Given the description of an element on the screen output the (x, y) to click on. 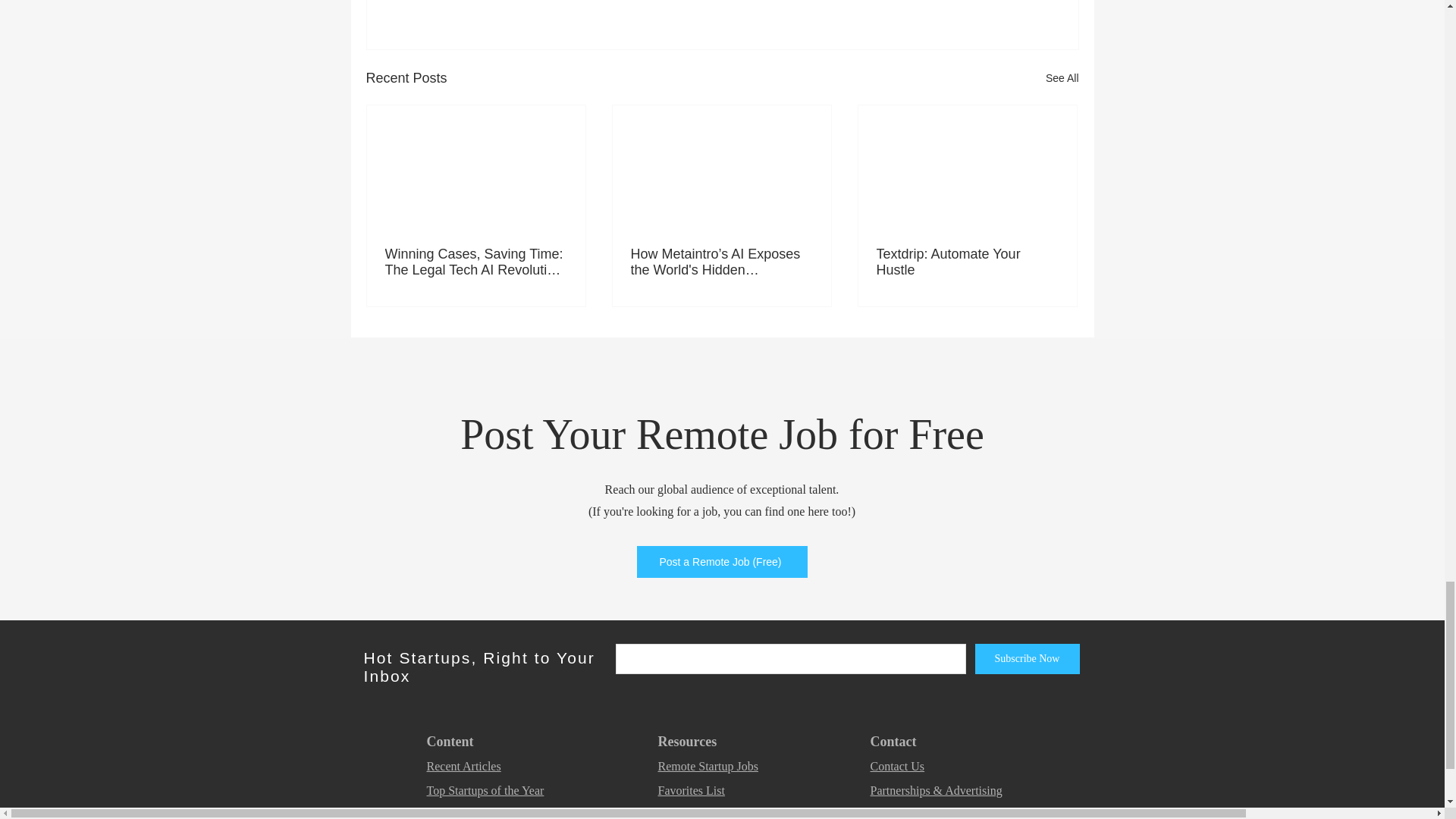
Remote Startup Jobs (708, 766)
Contact Us (897, 766)
Top Startups of the Year (484, 789)
Recent Articles (463, 766)
See All (1061, 78)
Guest Post (896, 813)
Textdrip: Automate Your Hustle (967, 262)
Favorites List (691, 789)
The Daily Startup Newsletter (497, 813)
